Given the description of an element on the screen output the (x, y) to click on. 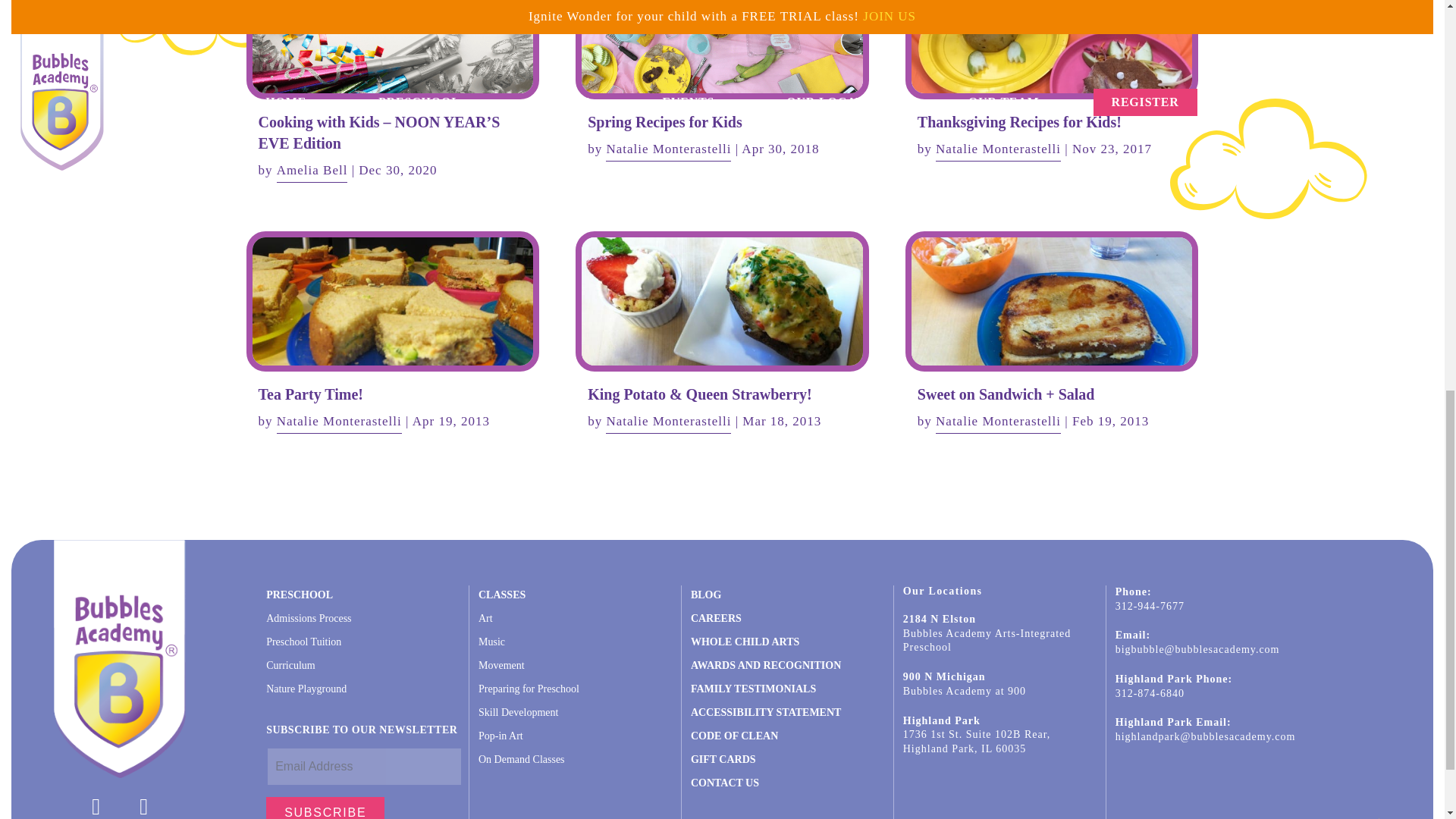
Posts by Natalie Monterastelli (998, 422)
Posts by Natalie Monterastelli (338, 422)
Posts by Amelia Bell (311, 170)
Subscribe (325, 807)
Posts by Natalie Monterastelli (998, 149)
Posts by Natalie Monterastelli (667, 149)
Posts by Natalie Monterastelli (667, 422)
